Given the description of an element on the screen output the (x, y) to click on. 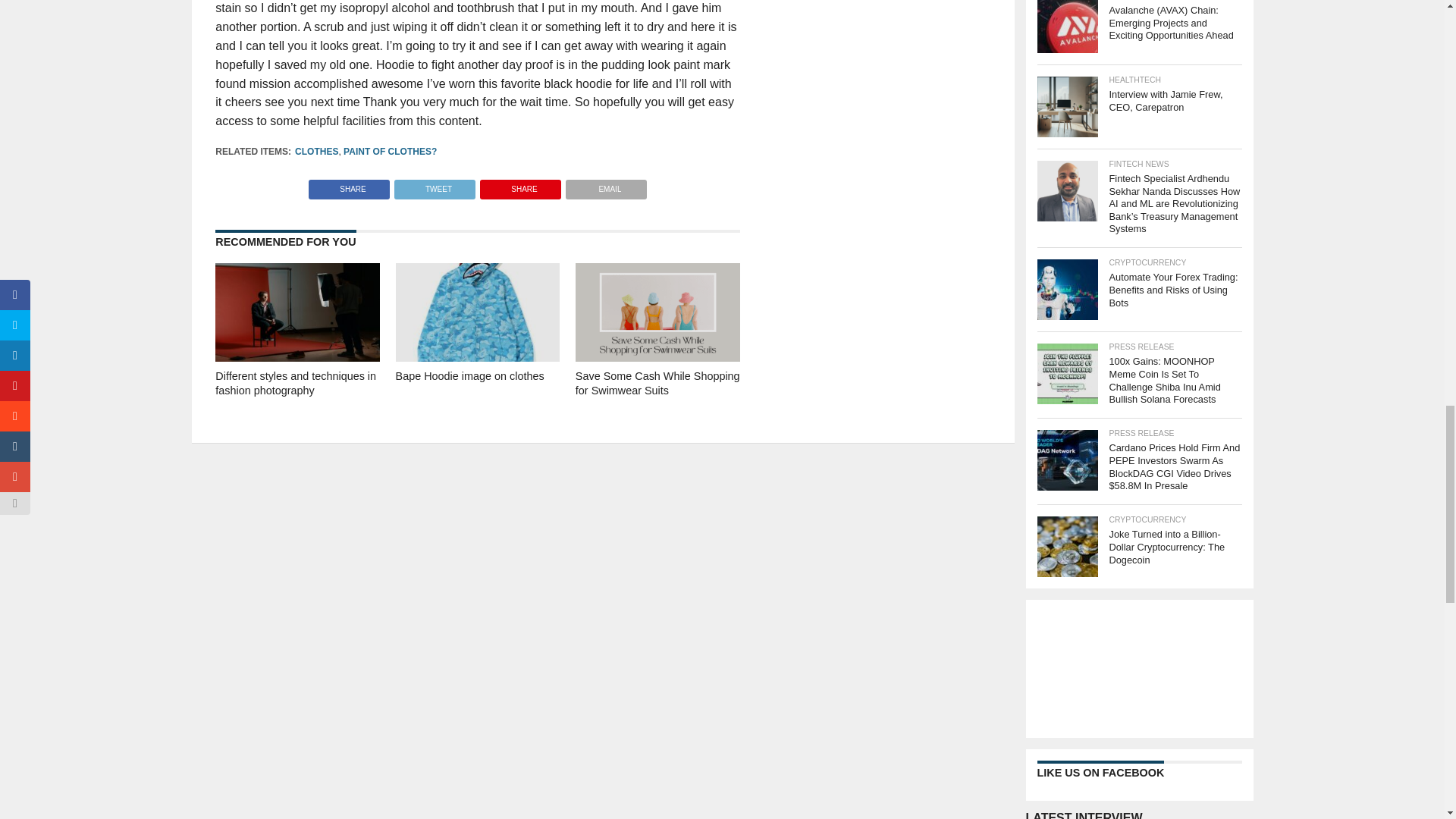
Save Some Cash While Shopping for Swimwear Suits (657, 357)
Pin This Post (520, 185)
Different styles and techniques in fashion photography (297, 357)
Share on Facebook (349, 185)
Tweet This Post (434, 185)
Bape Hoodie image on clothes (478, 357)
